Given the description of an element on the screen output the (x, y) to click on. 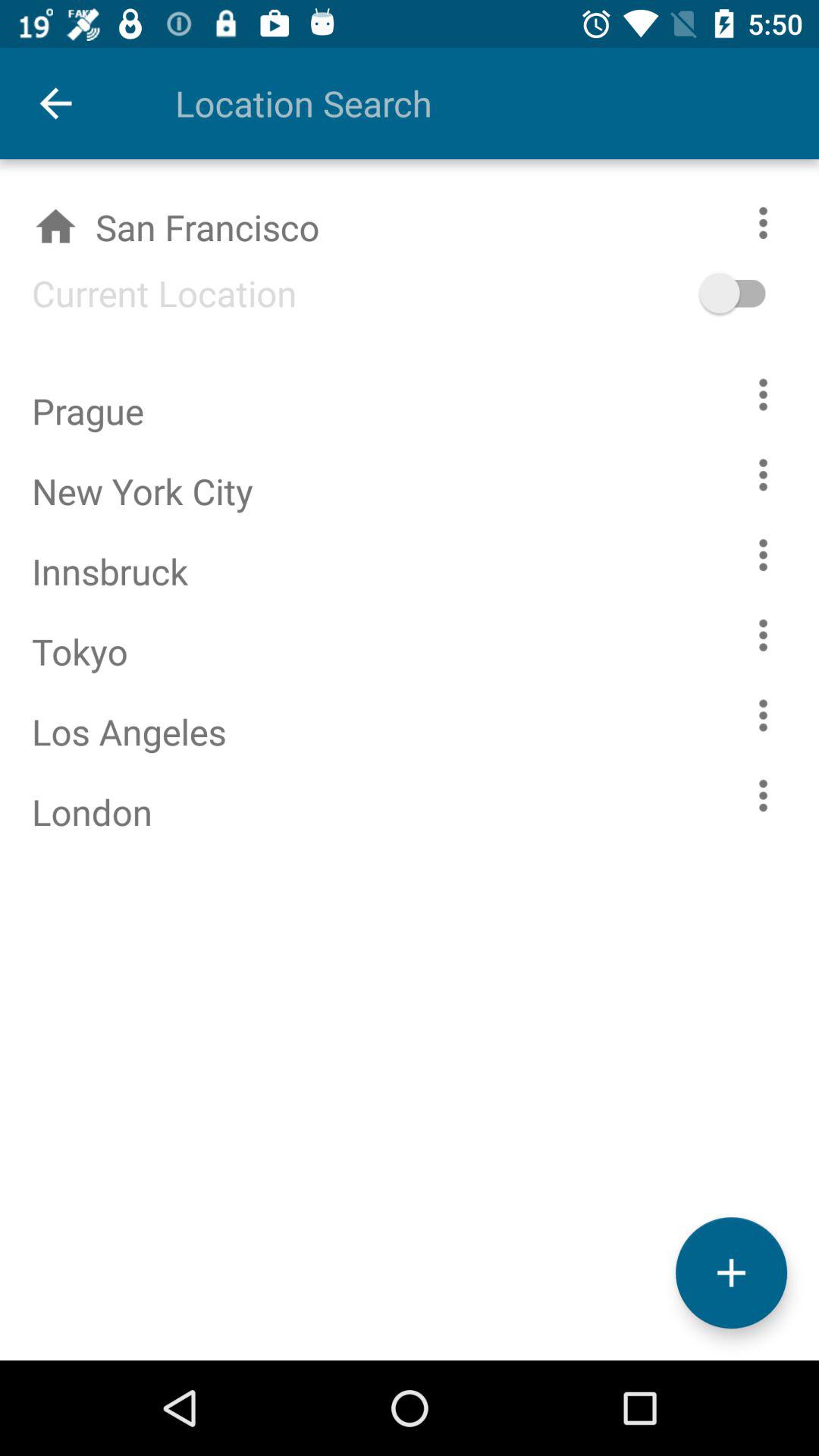
get more options (763, 394)
